Given the description of an element on the screen output the (x, y) to click on. 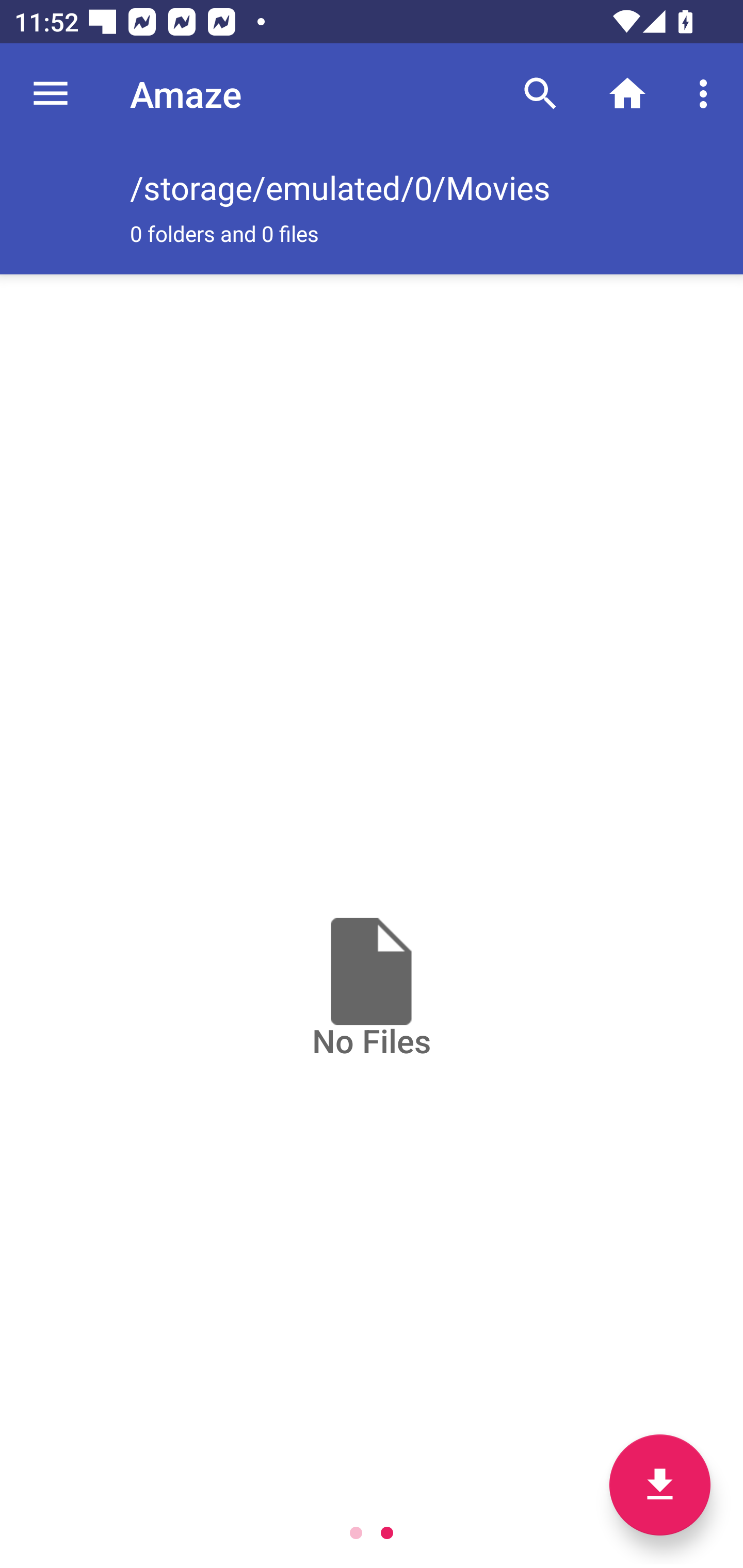
Navigate up (50, 93)
Search (540, 93)
Home (626, 93)
More options (706, 93)
